Given the description of an element on the screen output the (x, y) to click on. 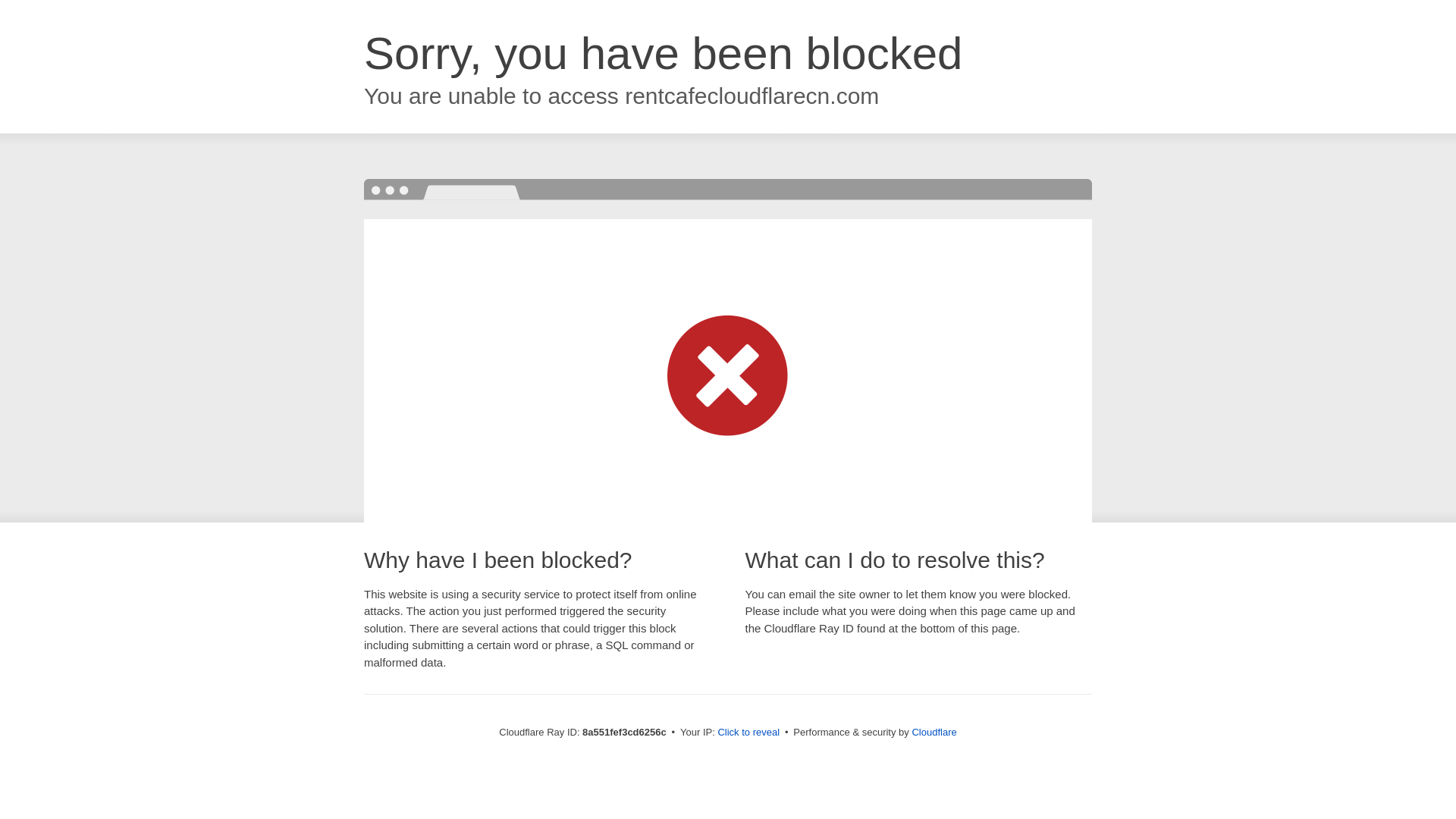
Cloudflare (933, 731)
Click to reveal (747, 732)
